Given the description of an element on the screen output the (x, y) to click on. 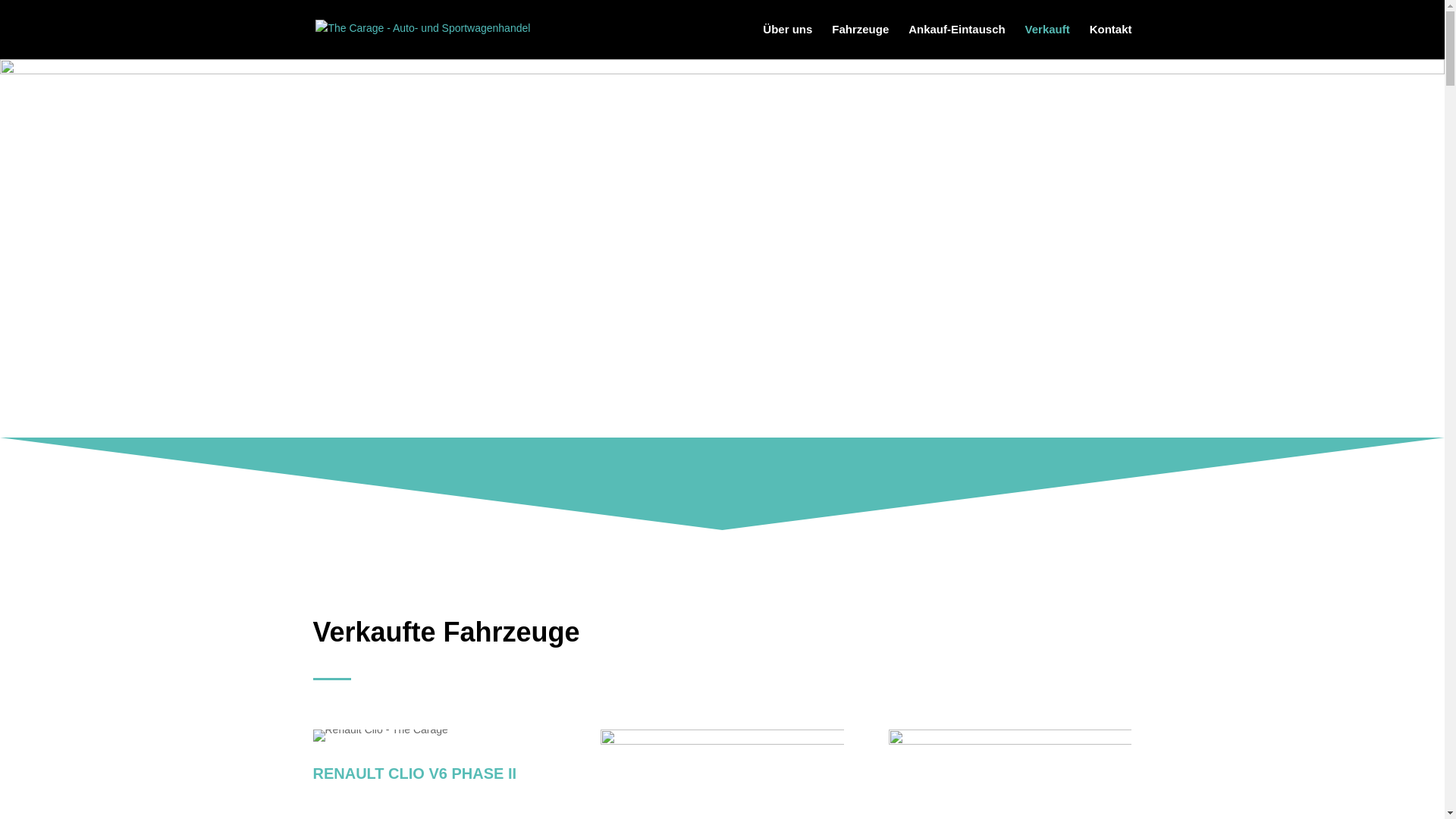
Kontakt Element type: text (1110, 41)
Renault Clio V6 Phase II Element type: hover (379, 735)
Fahrzeuge Element type: text (859, 41)
Verkauft Element type: text (1047, 41)
Ankauf-Eintausch Element type: text (956, 41)
